Given the description of an element on the screen output the (x, y) to click on. 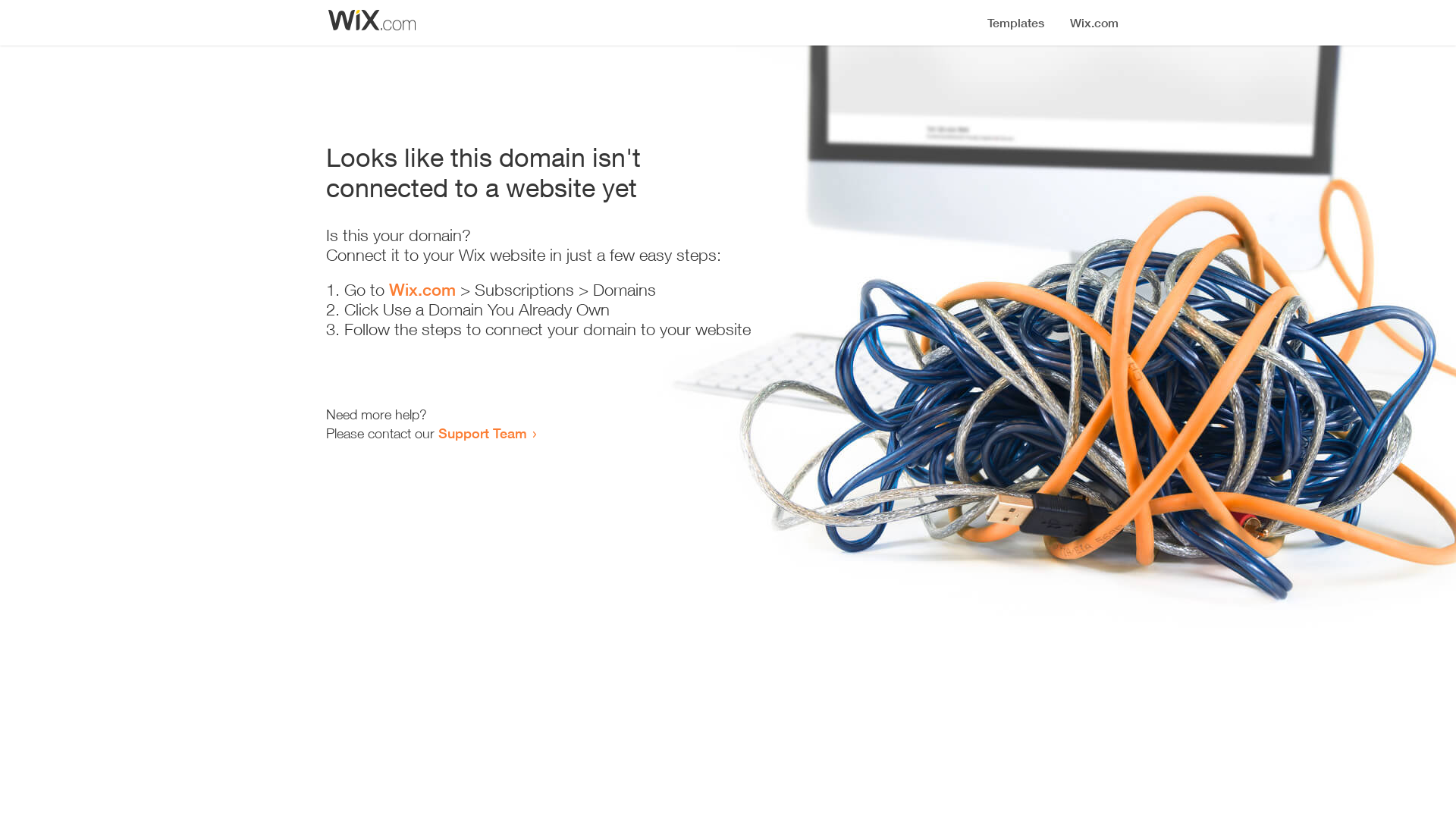
Wix.com Element type: text (422, 289)
Support Team Element type: text (482, 432)
